Given the description of an element on the screen output the (x, y) to click on. 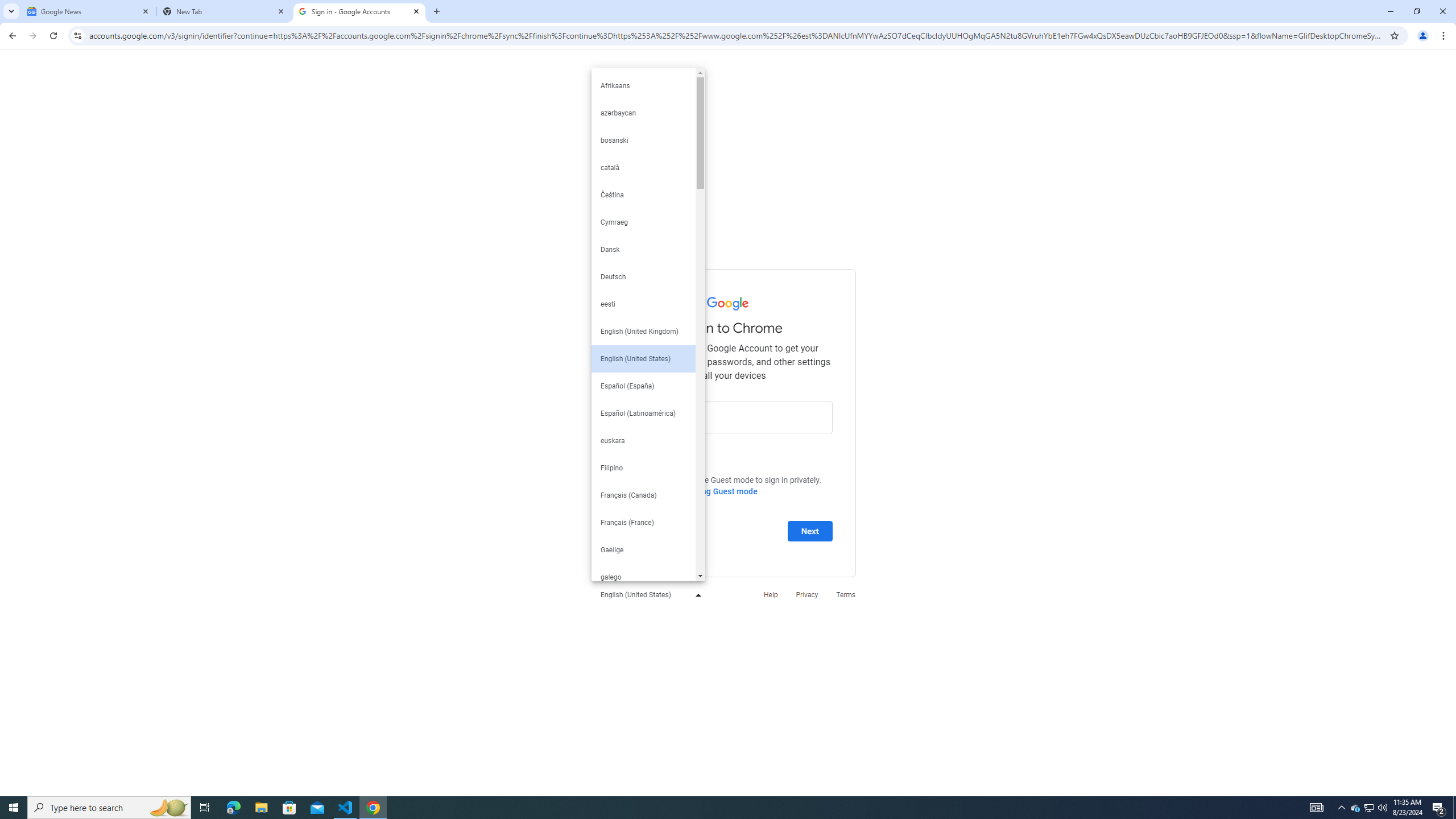
Create account (651, 530)
Gaeilge (643, 549)
